Given the description of an element on the screen output the (x, y) to click on. 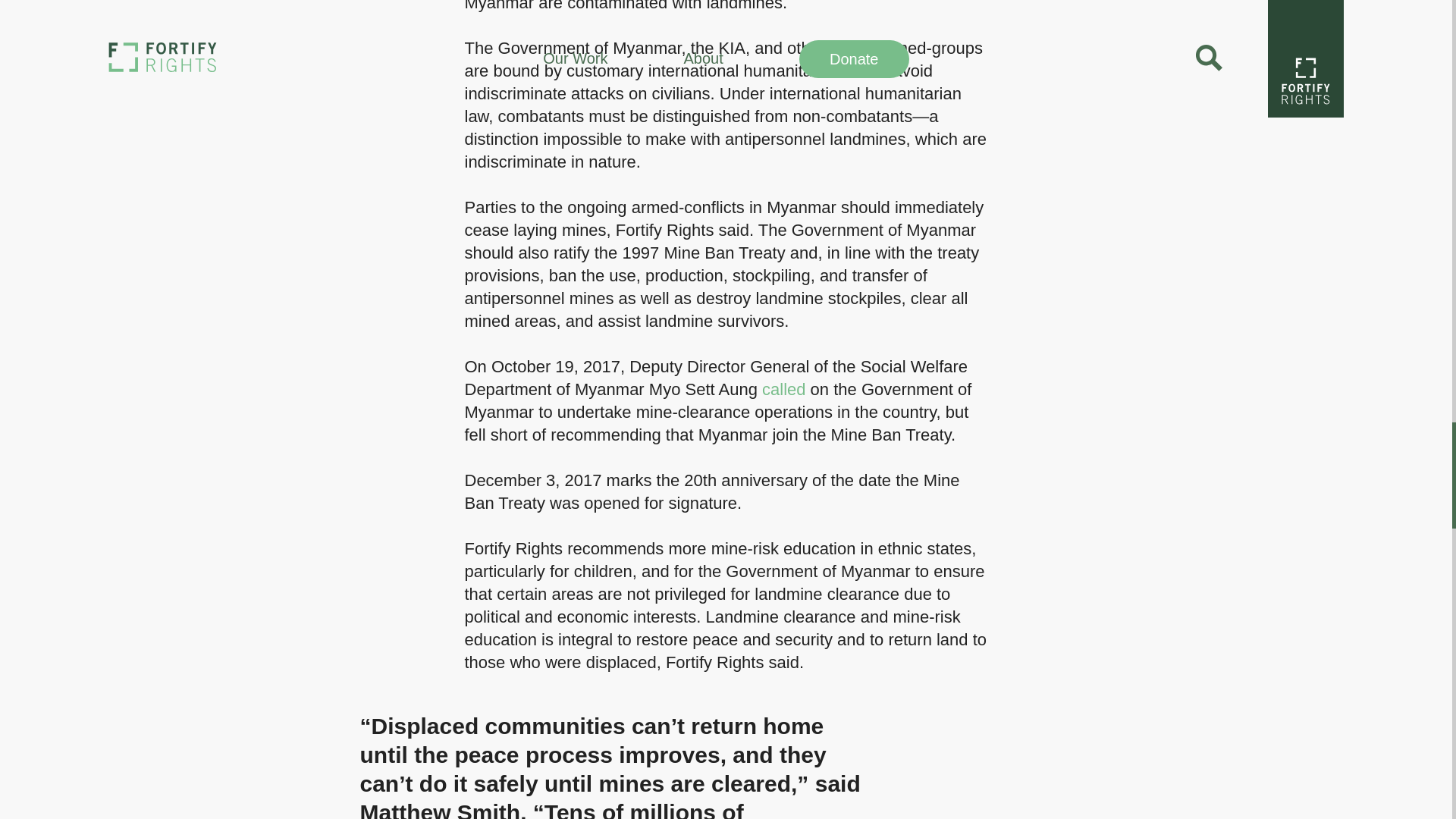
called (783, 389)
